Given the description of an element on the screen output the (x, y) to click on. 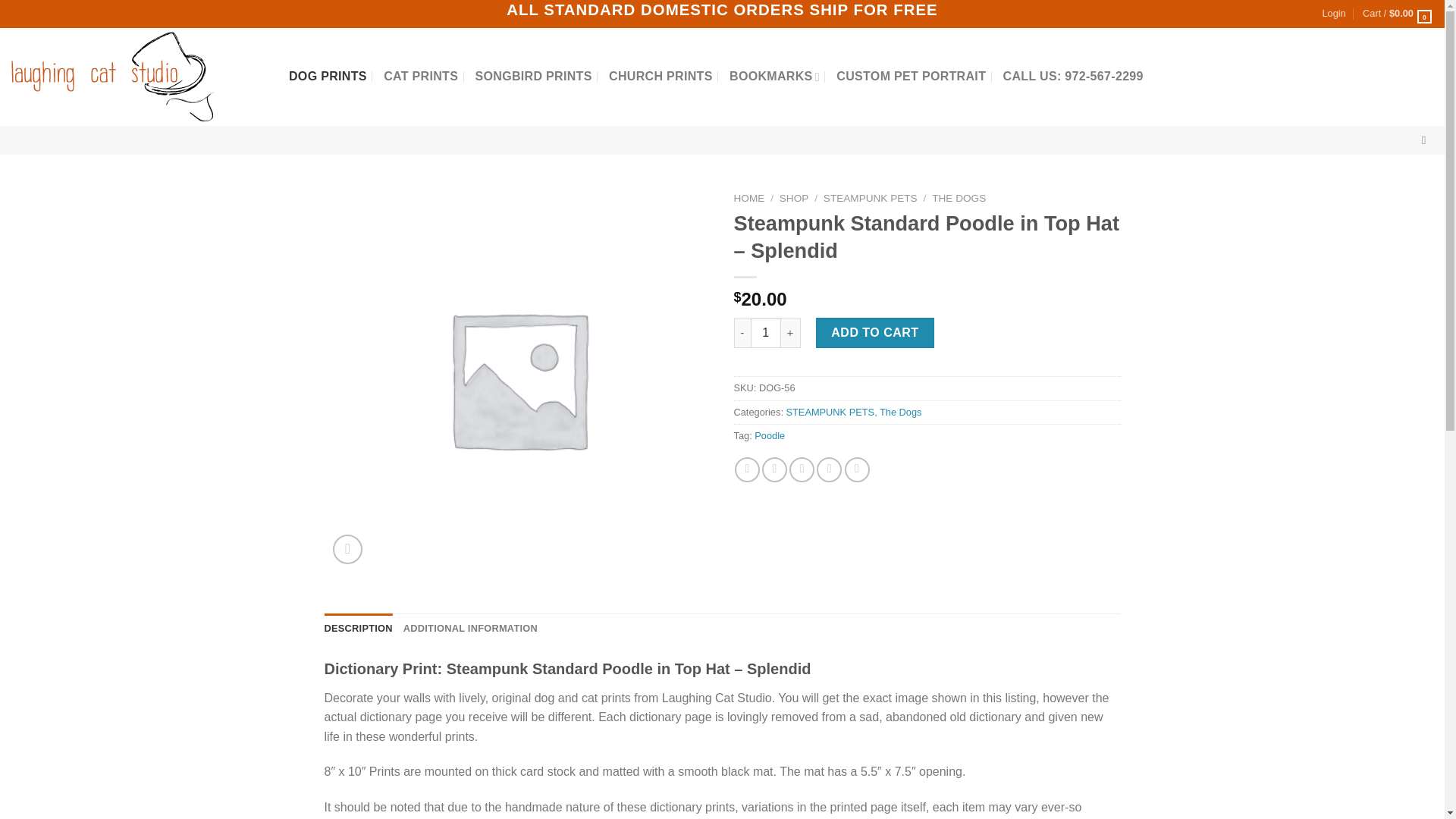
The Dogs (900, 411)
HOME (749, 197)
CAT PRINTS (421, 76)
THE DOGS (958, 197)
CHURCH PRINTS (660, 76)
SHOP (793, 197)
Cart (1397, 13)
STEAMPUNK PETS (870, 197)
DOG PRINTS (327, 76)
STEAMPUNK PETS (830, 411)
Email to a Friend (801, 469)
ADD TO CART (874, 332)
Qty (765, 332)
CUSTOM PET PORTRAIT (910, 76)
Pin on Pinterest (828, 469)
